Given the description of an element on the screen output the (x, y) to click on. 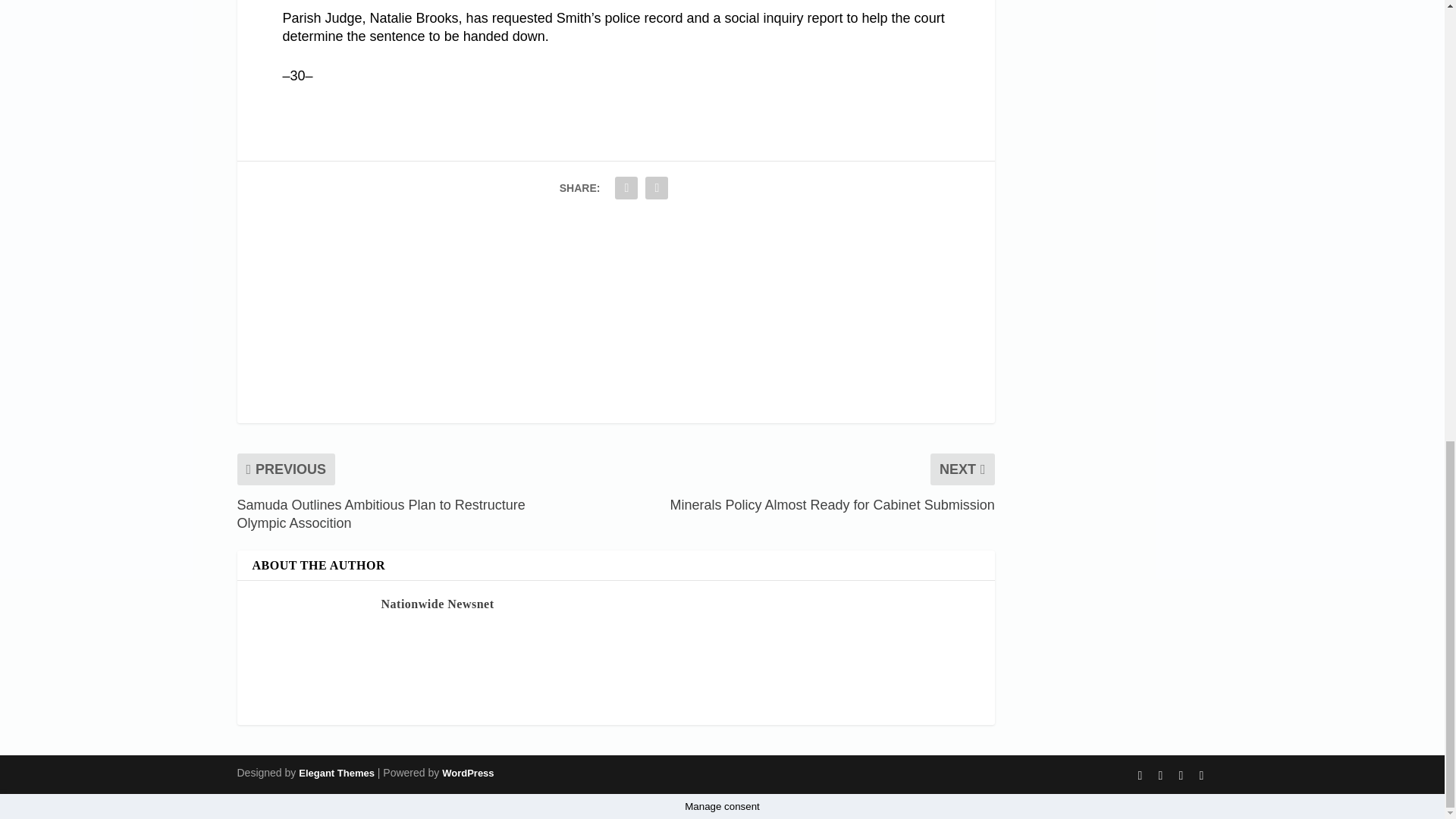
View all posts by Nationwide Newsnet (436, 603)
Nationwide Newsnet (436, 603)
Share "Goat Thief Pleads Guilty" via Facebook (626, 187)
Elegant Themes (336, 772)
Share "Goat Thief Pleads Guilty" via Twitter (656, 187)
Premium WordPress Themes (336, 772)
